Given the description of an element on the screen output the (x, y) to click on. 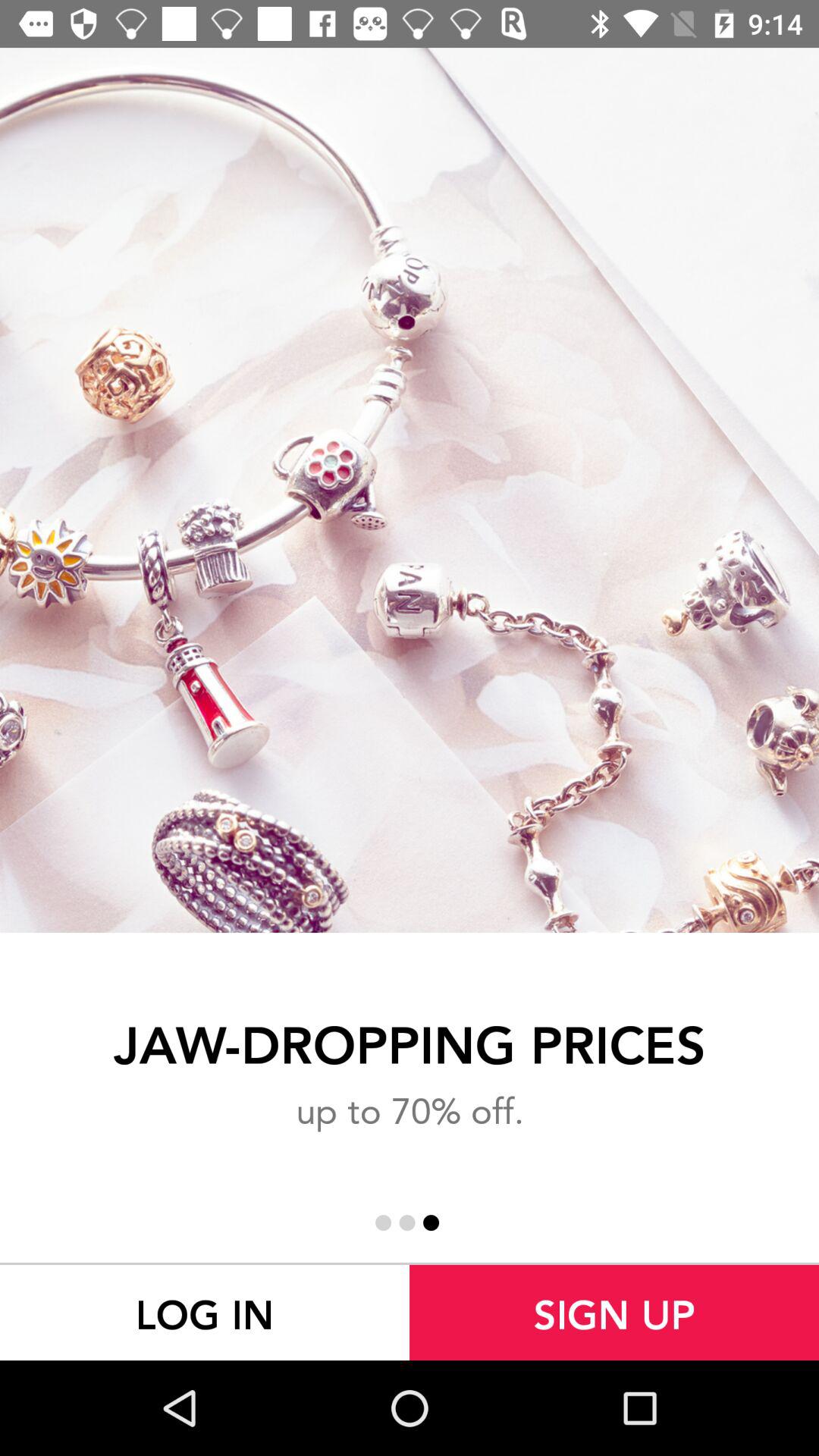
turn on icon at the bottom right corner (614, 1312)
